Given the description of an element on the screen output the (x, y) to click on. 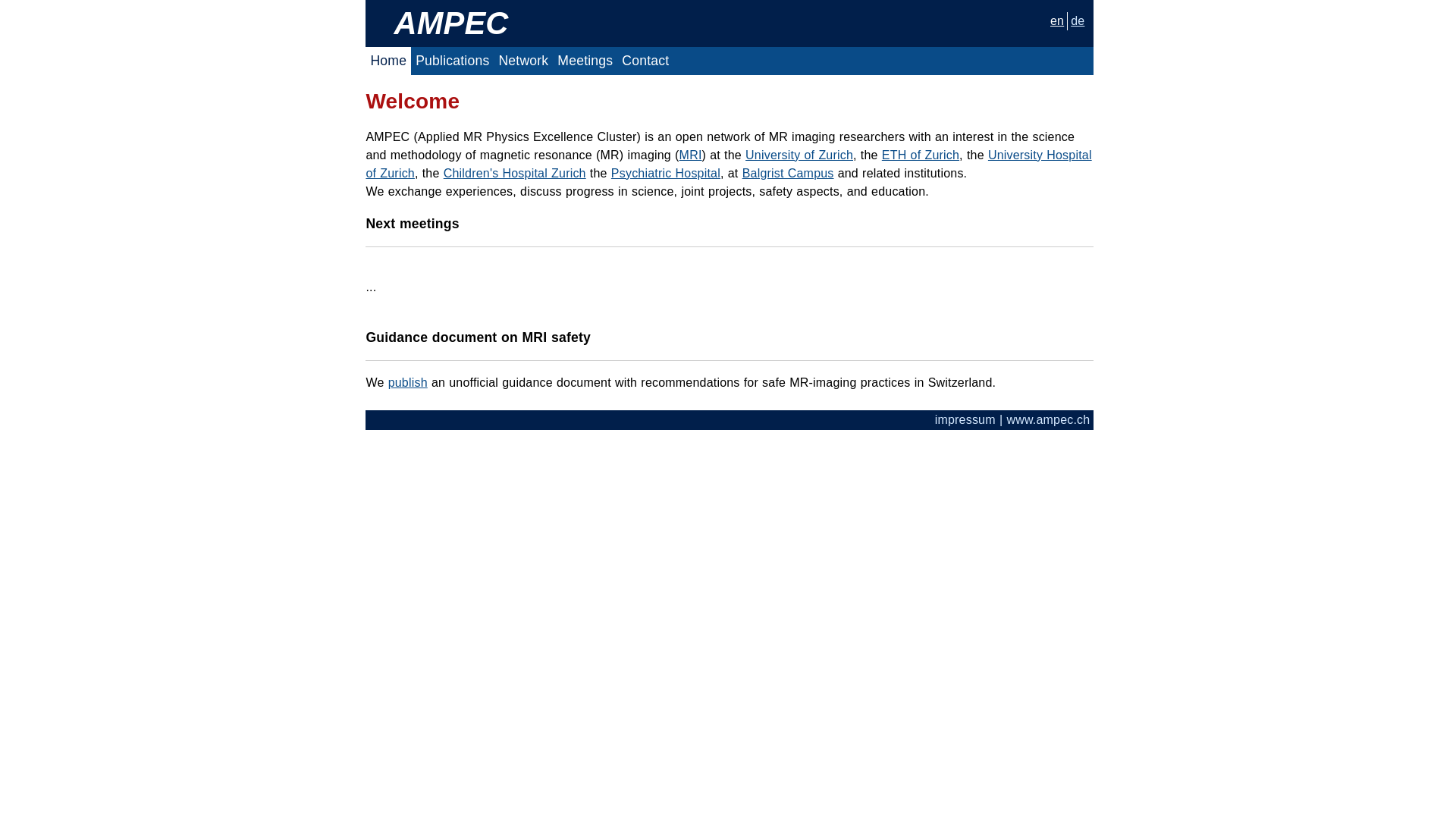
MRI Element type: text (690, 154)
Home Element type: text (388, 60)
Children's Hospital Zurich Element type: text (514, 172)
ETH of Zurich Element type: text (920, 154)
Network Element type: text (522, 60)
University of Zurich Element type: text (799, 154)
Psychiatric Hospital Element type: text (665, 172)
Balgrist Campus Element type: text (788, 172)
de Element type: text (1077, 20)
University Hospital of Zurich Element type: text (728, 163)
en Element type: text (1056, 20)
impressum Element type: text (965, 419)
publish Element type: text (407, 382)
Contact Element type: text (645, 60)
Meetings Element type: text (584, 60)
AMPEC Element type: text (450, 22)
www.ampec.ch Element type: text (1047, 419)
Publications Element type: text (452, 60)
